Given the description of an element on the screen output the (x, y) to click on. 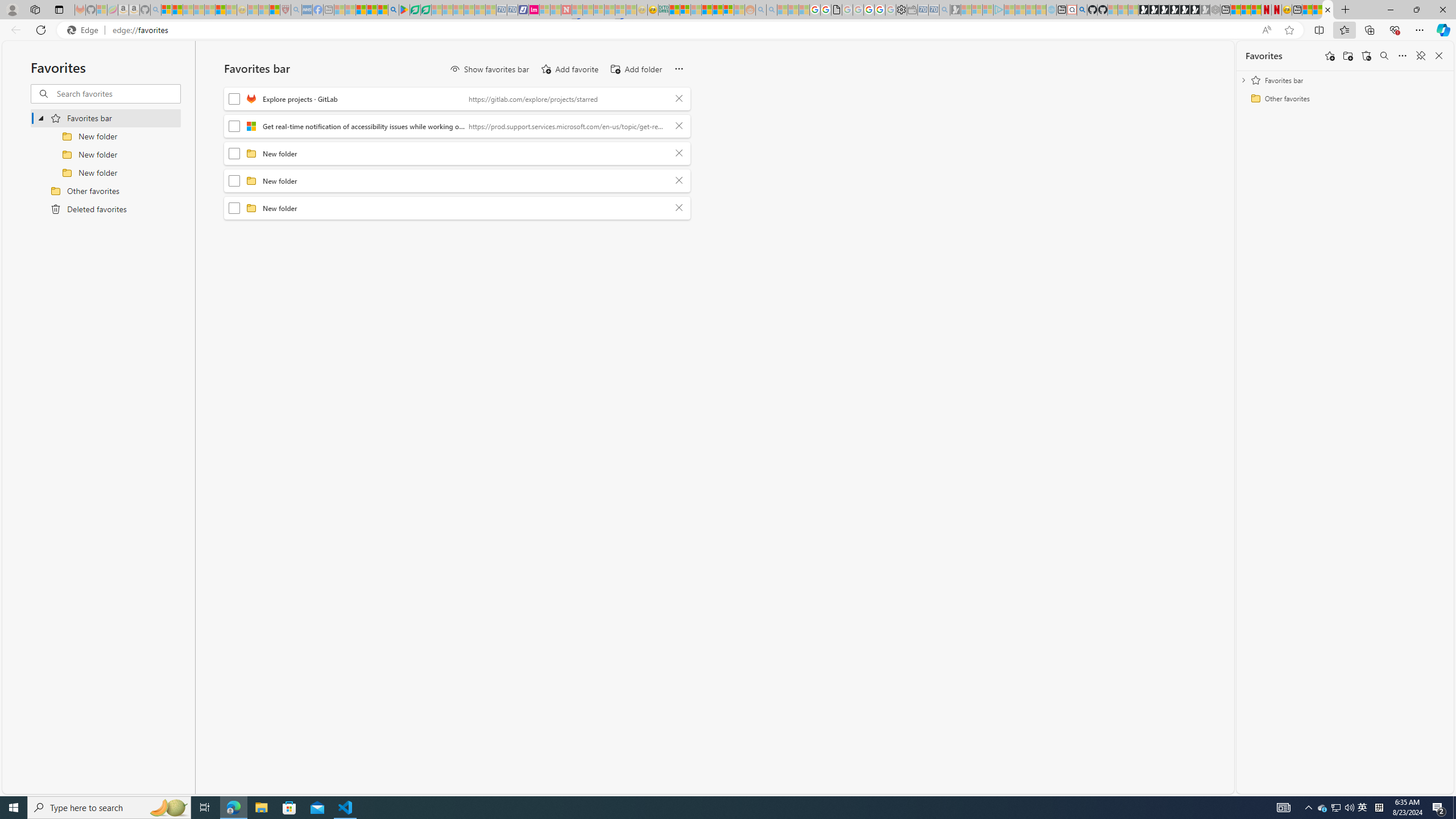
list of asthma inhalers uk - Search - Sleeping (296, 9)
Cheap Car Rentals - Save70.com - Sleeping (933, 9)
Show favorites bar (488, 69)
Add folder (1347, 55)
Edge (84, 29)
Robert H. Shmerling, MD - Harvard Health - Sleeping (285, 9)
DITOGAMES AG Imprint (663, 9)
14 Common Myths Debunked By Scientific Facts - Sleeping (588, 9)
